Given the description of an element on the screen output the (x, y) to click on. 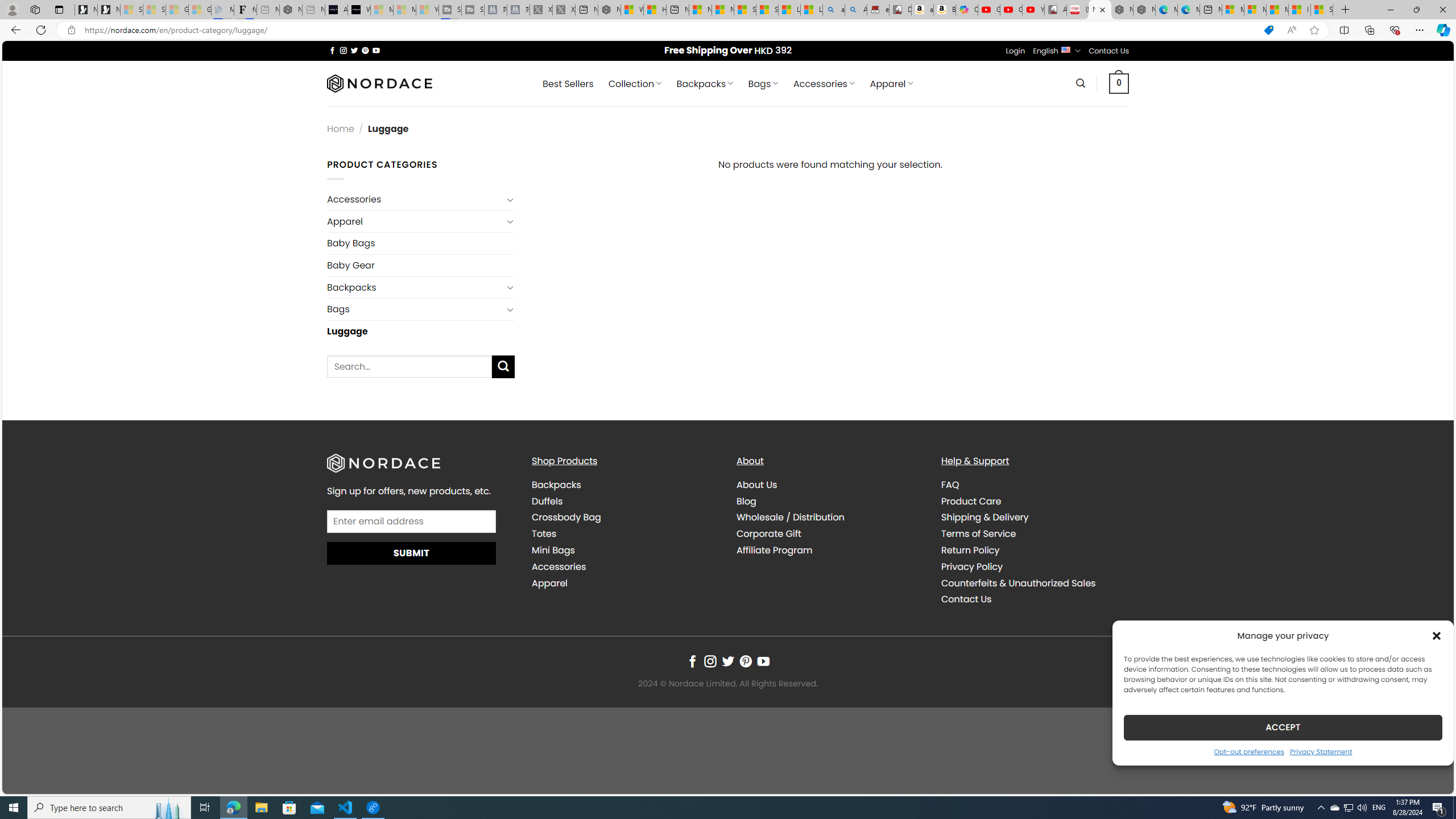
Product Care (1034, 501)
Return Policy (1034, 549)
Shipping & Delivery (1034, 517)
Baby Bags (421, 242)
Nordace - #1 Japanese Best-Seller - Siena Smart Backpack (291, 9)
Counterfeits & Unauthorized Sales (1018, 582)
Privacy Policy (1034, 566)
Search (1079, 83)
What's the best AI voice generator? - voice.ai (359, 9)
Opt-out preferences (1249, 750)
Luggage (421, 330)
amazon - Search (834, 9)
Corporate Gift (768, 533)
